Given the description of an element on the screen output the (x, y) to click on. 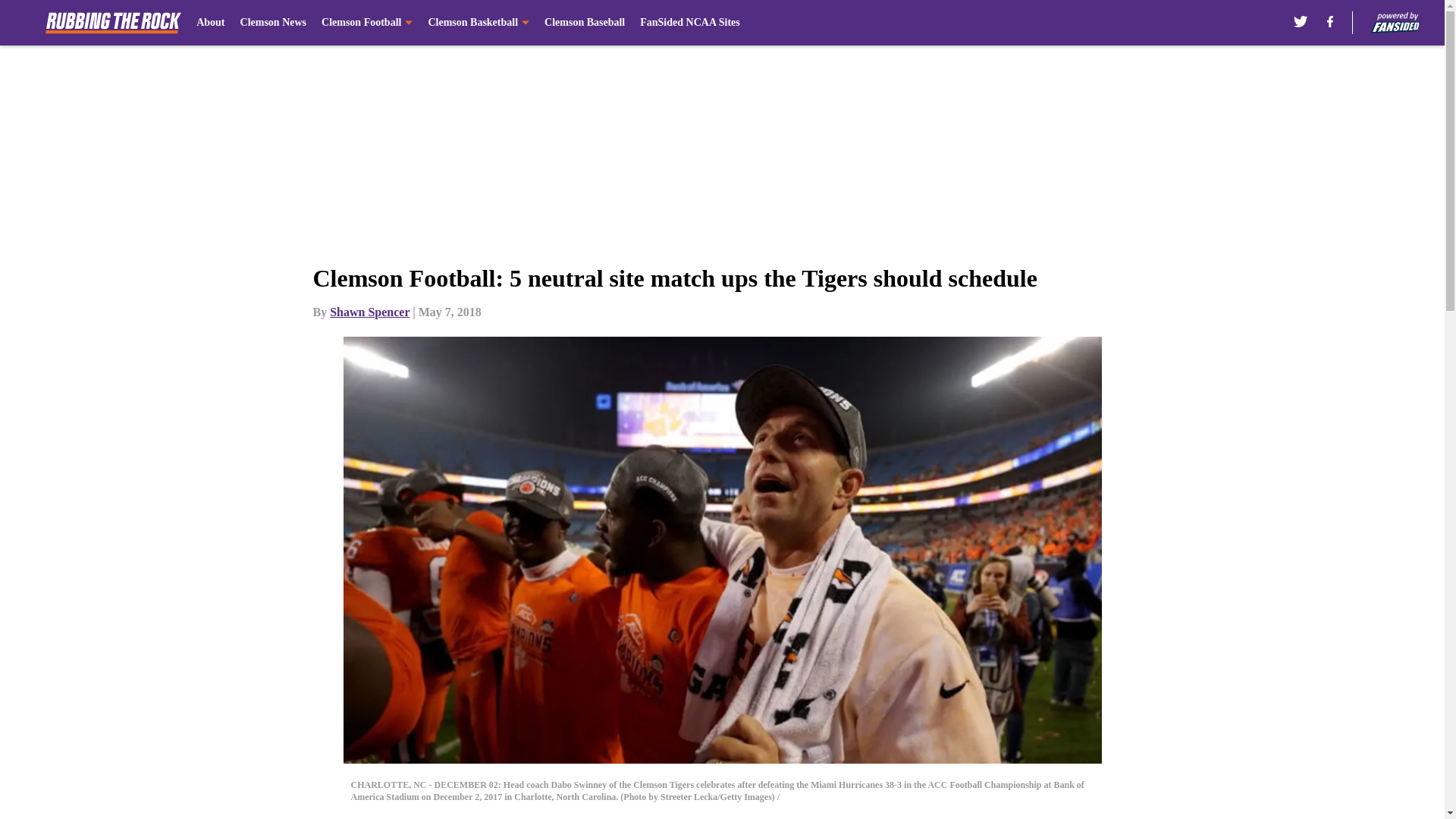
Shawn Spencer (369, 311)
FanSided NCAA Sites (689, 22)
Clemson Baseball (584, 22)
Clemson News (273, 22)
About (210, 22)
